Given the description of an element on the screen output the (x, y) to click on. 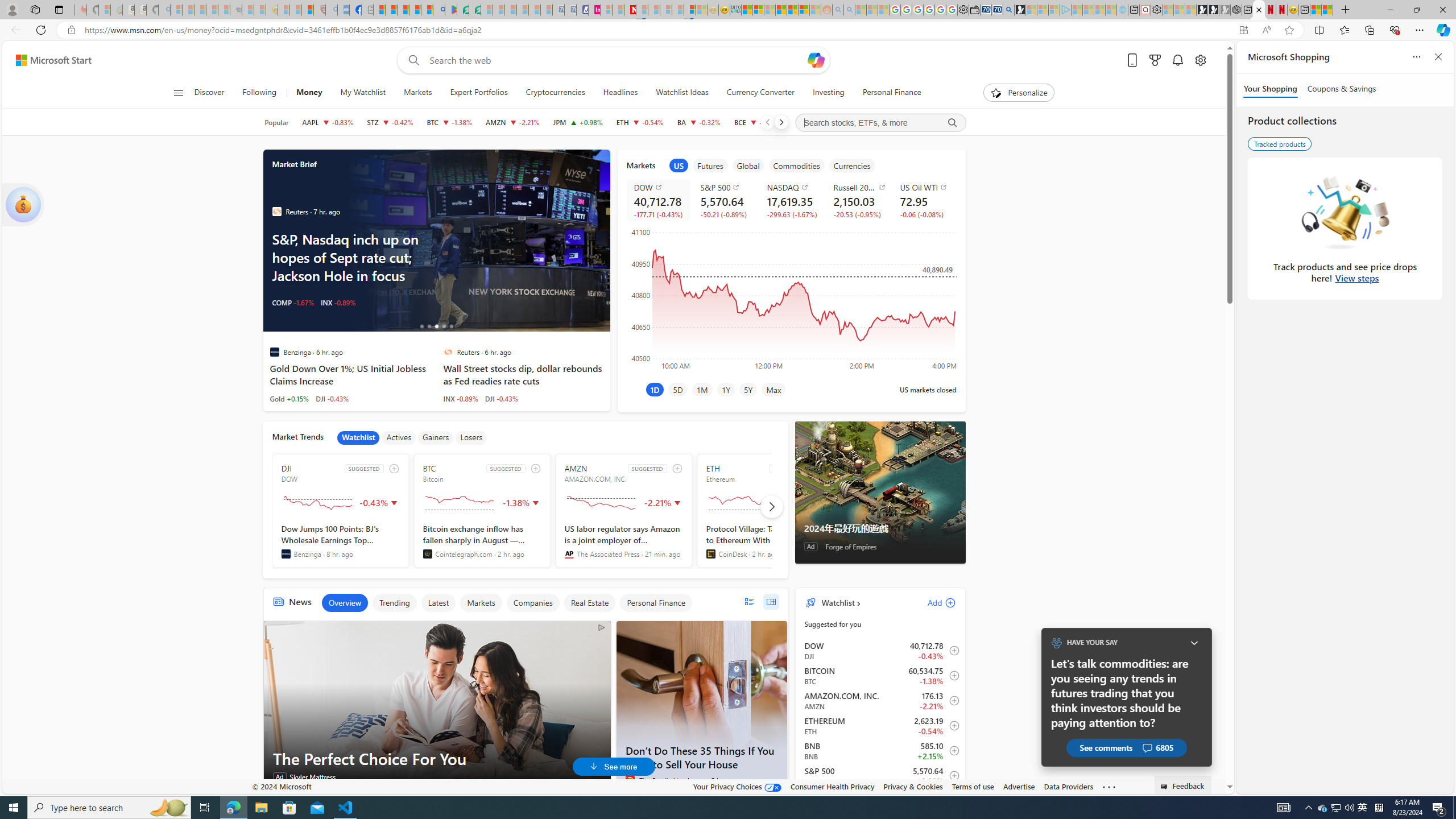
DOW (660, 187)
Web search (411, 60)
Latest Politics News & Archive | Newsweek.com (629, 9)
CoinDesk (710, 553)
Previous (767, 122)
Privacy & Cookies (913, 785)
Cointelegraph.com (427, 553)
Watchlist (837, 602)
Companies (532, 602)
Losers (471, 437)
Money (308, 92)
